Given the description of an element on the screen output the (x, y) to click on. 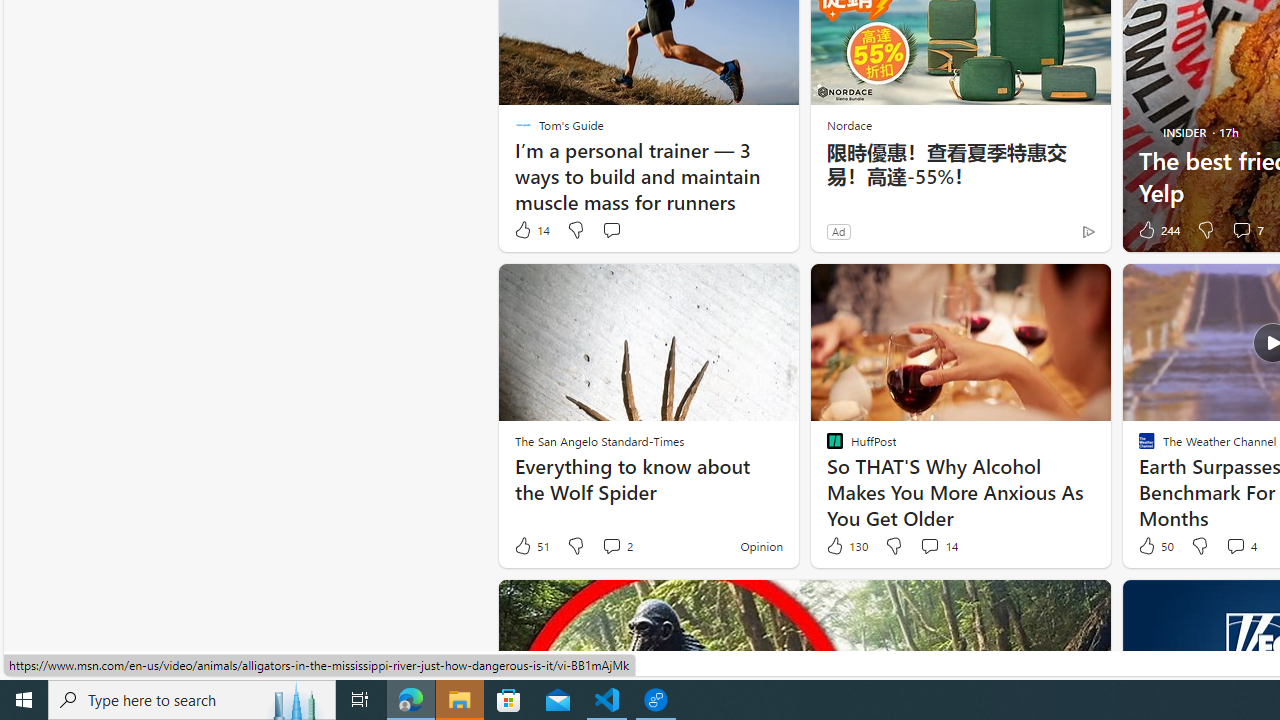
View comments 7 Comment (1247, 230)
View comments 2 Comment (616, 546)
51 Like (531, 546)
View comments 4 Comment (1240, 546)
View comments 14 Comment (929, 545)
